Given the description of an element on the screen output the (x, y) to click on. 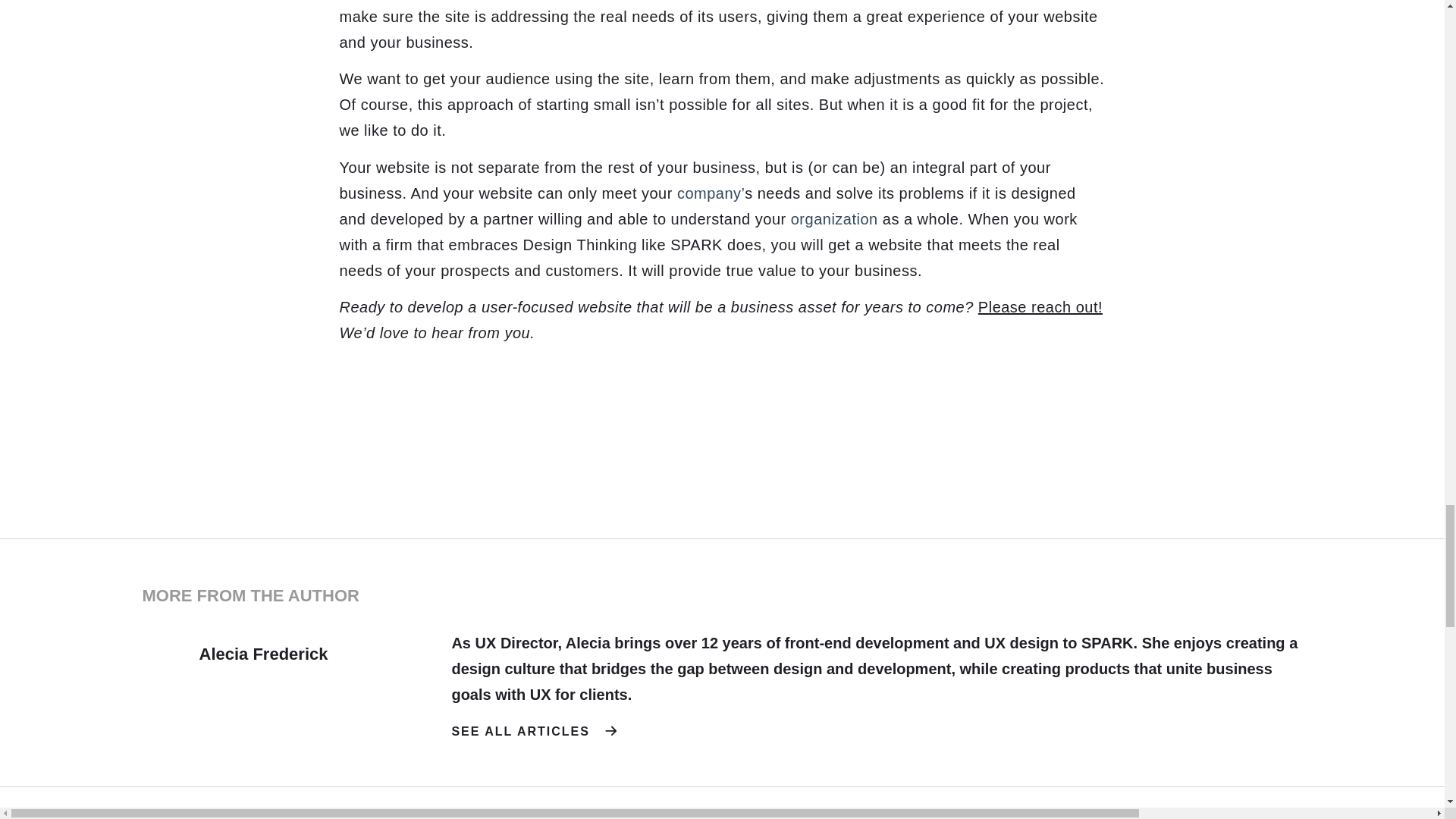
Please reach out! (1040, 306)
SEE ALL ARTICLES (534, 731)
